Given the description of an element on the screen output the (x, y) to click on. 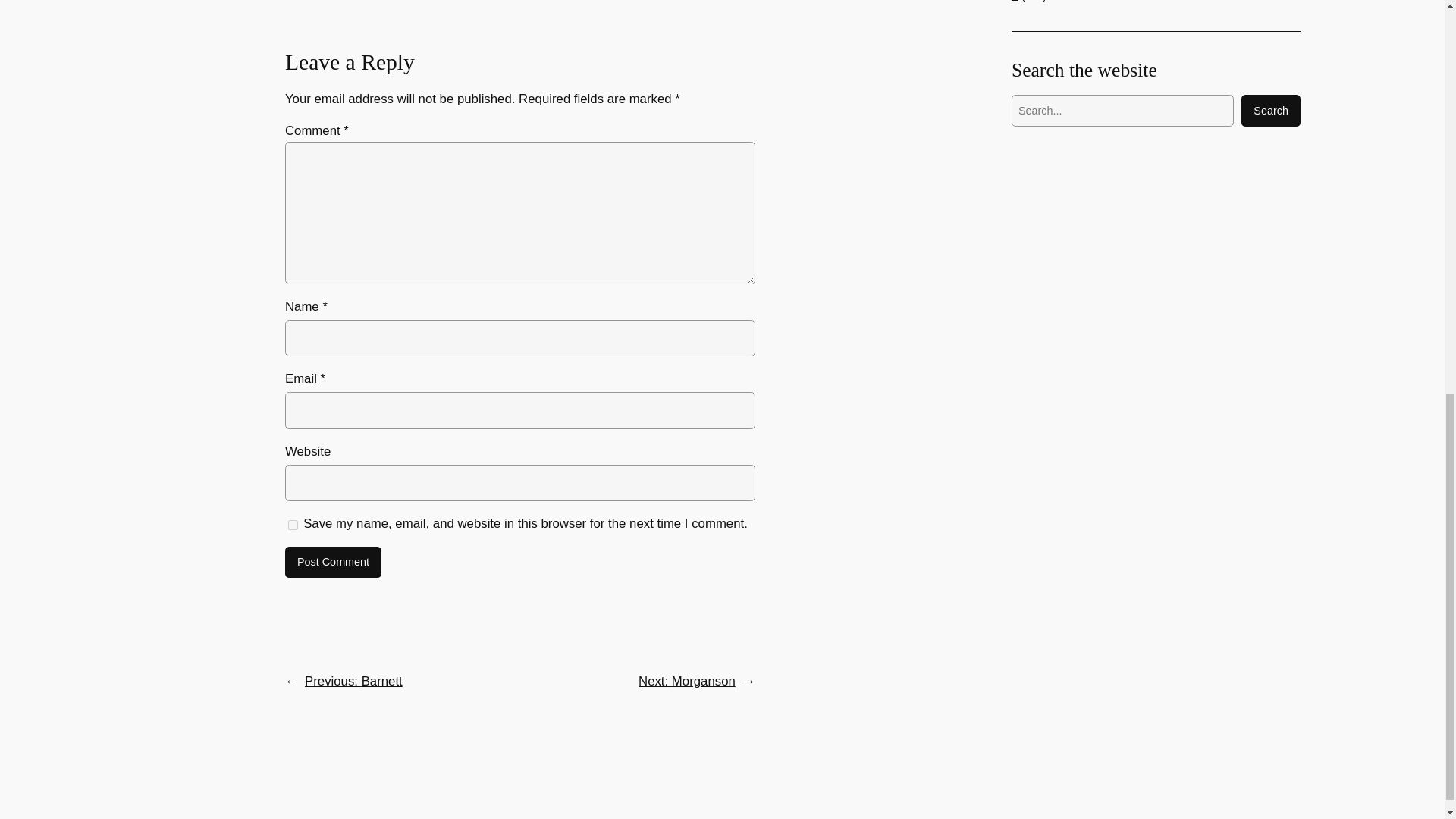
Post Comment (333, 562)
Next: Morganson (687, 681)
Previous: Barnett (353, 681)
Post Comment (333, 562)
